Given the description of an element on the screen output the (x, y) to click on. 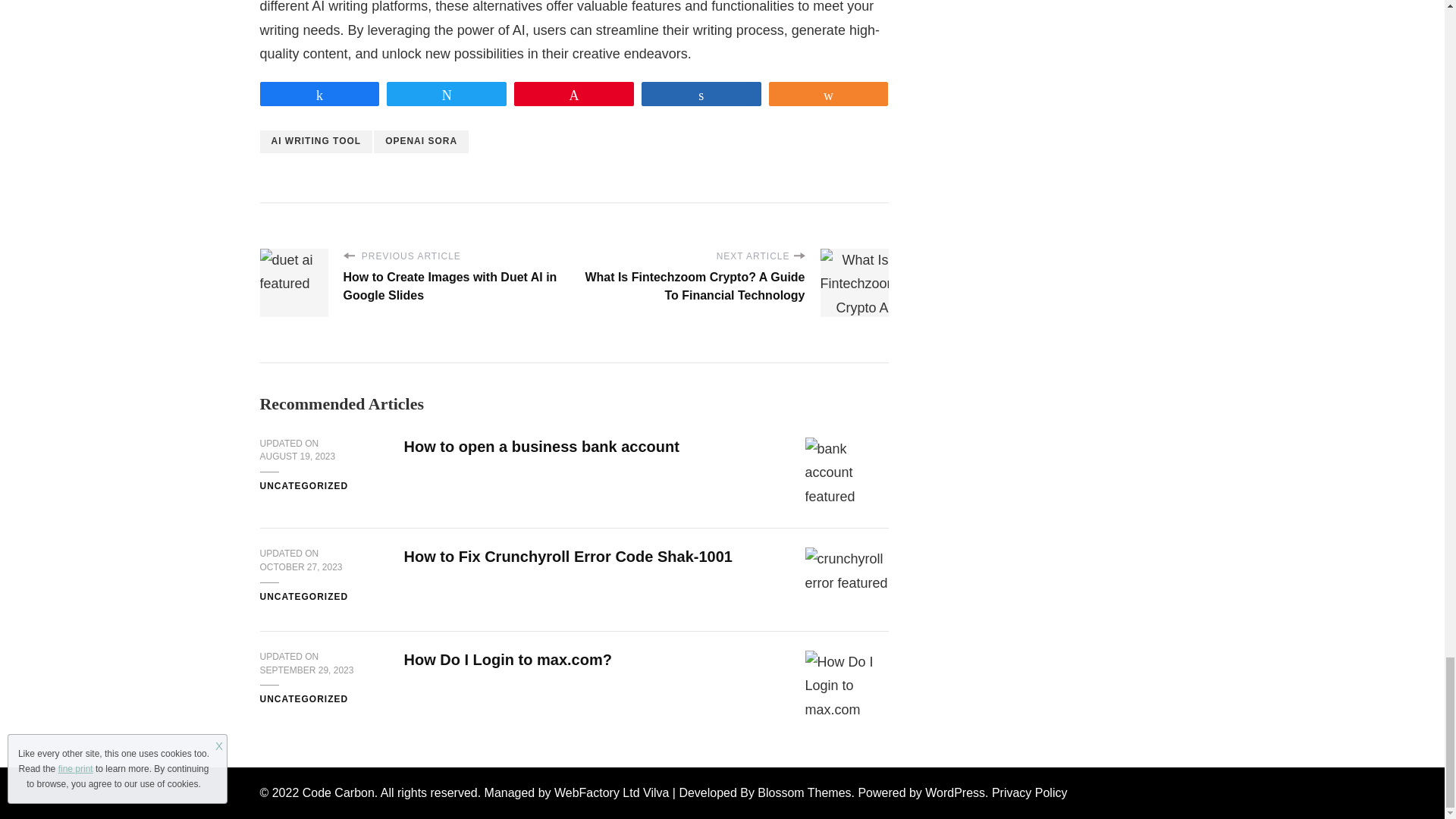
UNCATEGORIZED (303, 597)
How to open a business bank account (540, 446)
OPENAI SORA (421, 141)
AI WRITING TOOL (315, 141)
OCTOBER 27, 2023 (300, 567)
SEPTEMBER 29, 2023 (306, 671)
UNCATEGORIZED (303, 486)
How to Fix Crunchyroll Error Code Shak-1001 (567, 556)
AUGUST 19, 2023 (296, 457)
